Given the description of an element on the screen output the (x, y) to click on. 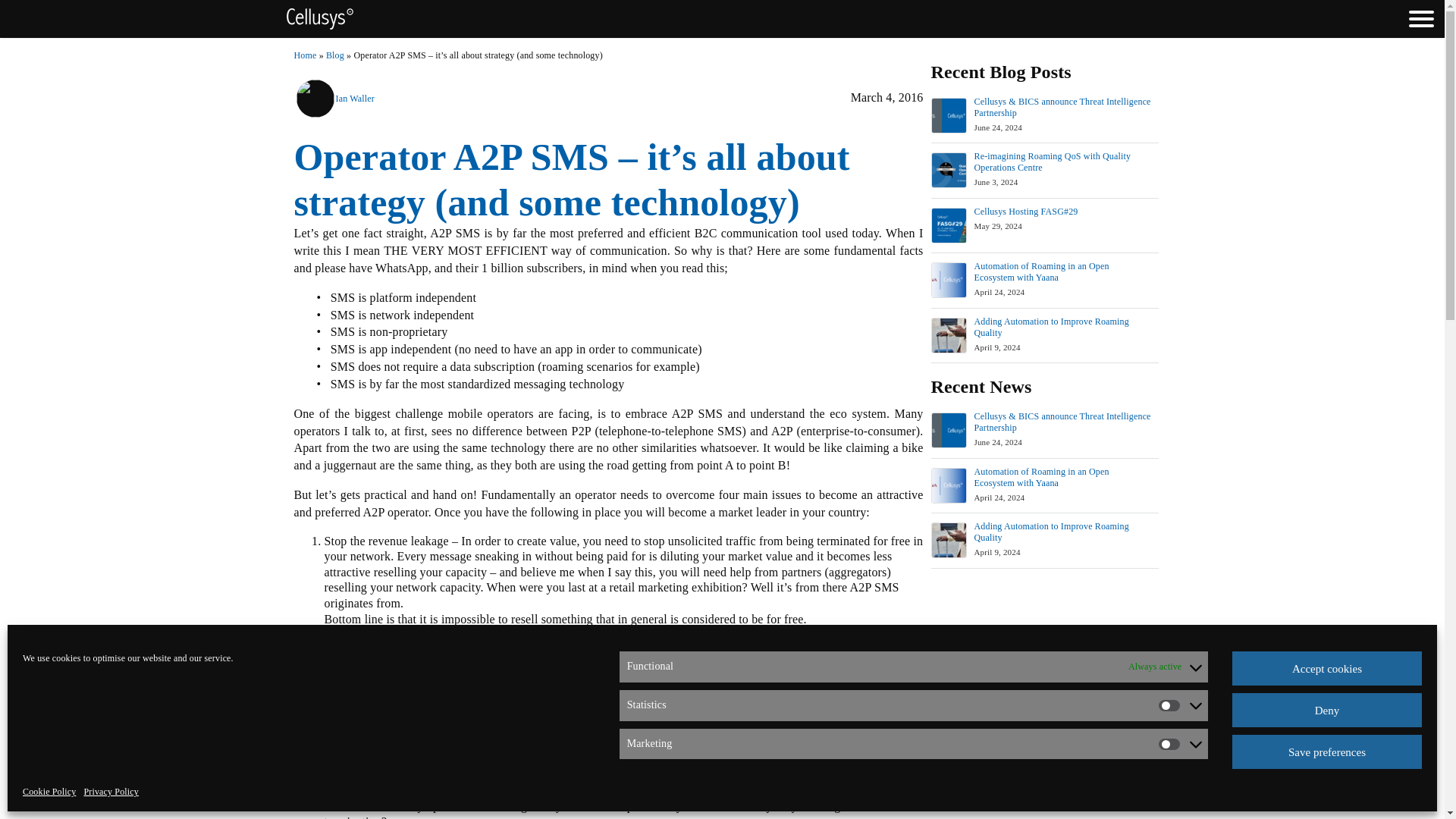
Save preferences (1326, 751)
Cookie Policy (49, 791)
Privacy Policy (110, 791)
Permalink to Adding Automation to Improve Roaming Quality (1051, 327)
Permalink to Adding Automation to Improve Roaming Quality (1051, 531)
Deny (1326, 709)
Posts by Ian Waller (354, 98)
Accept cookies (1326, 668)
